Given the description of an element on the screen output the (x, y) to click on. 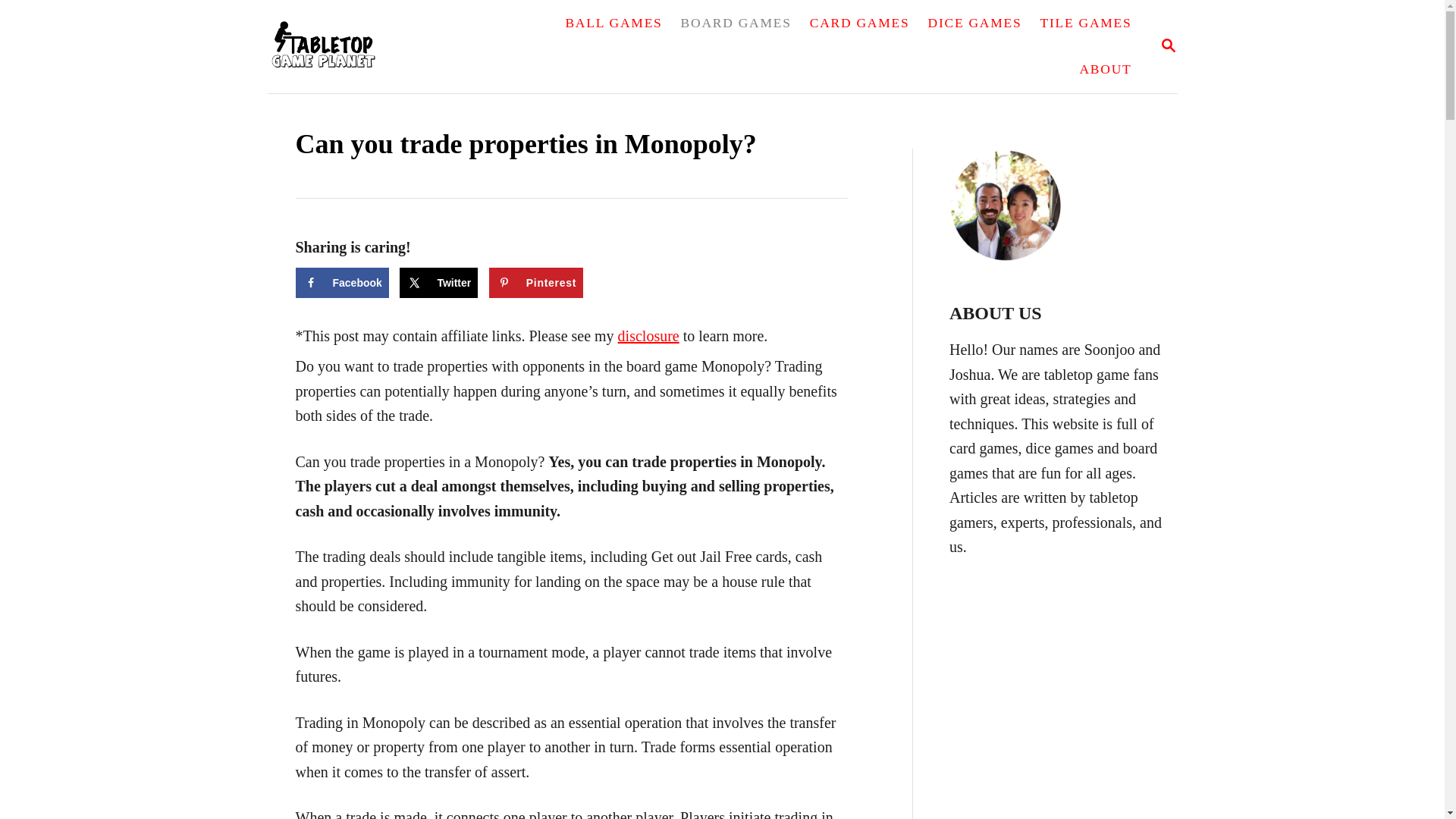
CARD GAMES (859, 22)
Search (22, 22)
Save to Pinterest (536, 281)
BALL GAMES (613, 22)
Twitter (437, 281)
DICE GAMES (974, 22)
Tabletop Game Planet (379, 46)
disclosure (648, 335)
Facebook (341, 281)
Pinterest (536, 281)
